Given the description of an element on the screen output the (x, y) to click on. 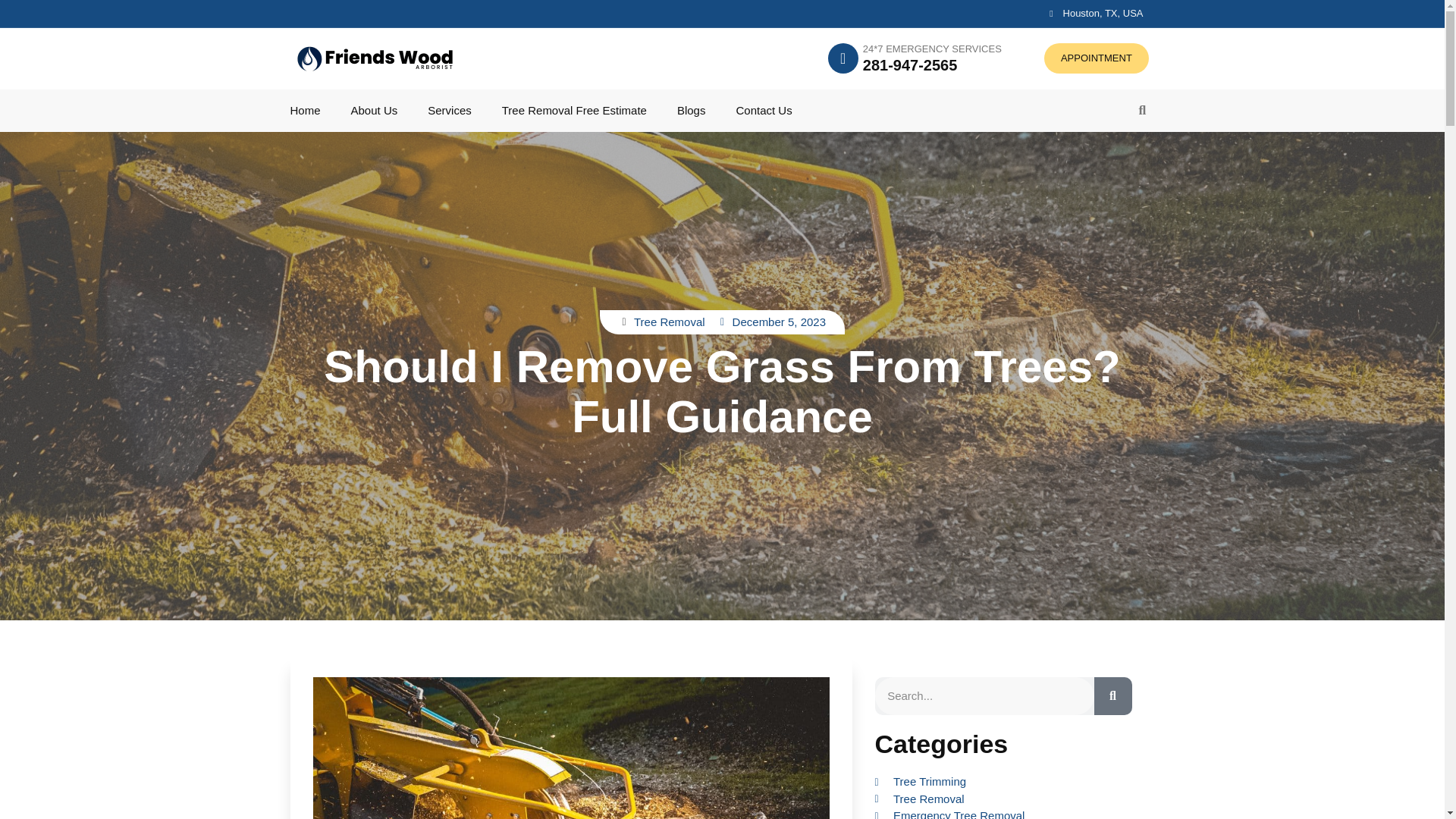
Blogs (691, 110)
Services (449, 110)
December 5, 2023 (771, 322)
Houston, TX, USA (1092, 13)
Home (304, 110)
281-947-2565 (910, 64)
APPOINTMENT (1095, 58)
Contact Us (763, 110)
Tree Removal Free Estimate (574, 110)
About Us (373, 110)
